Given the description of an element on the screen output the (x, y) to click on. 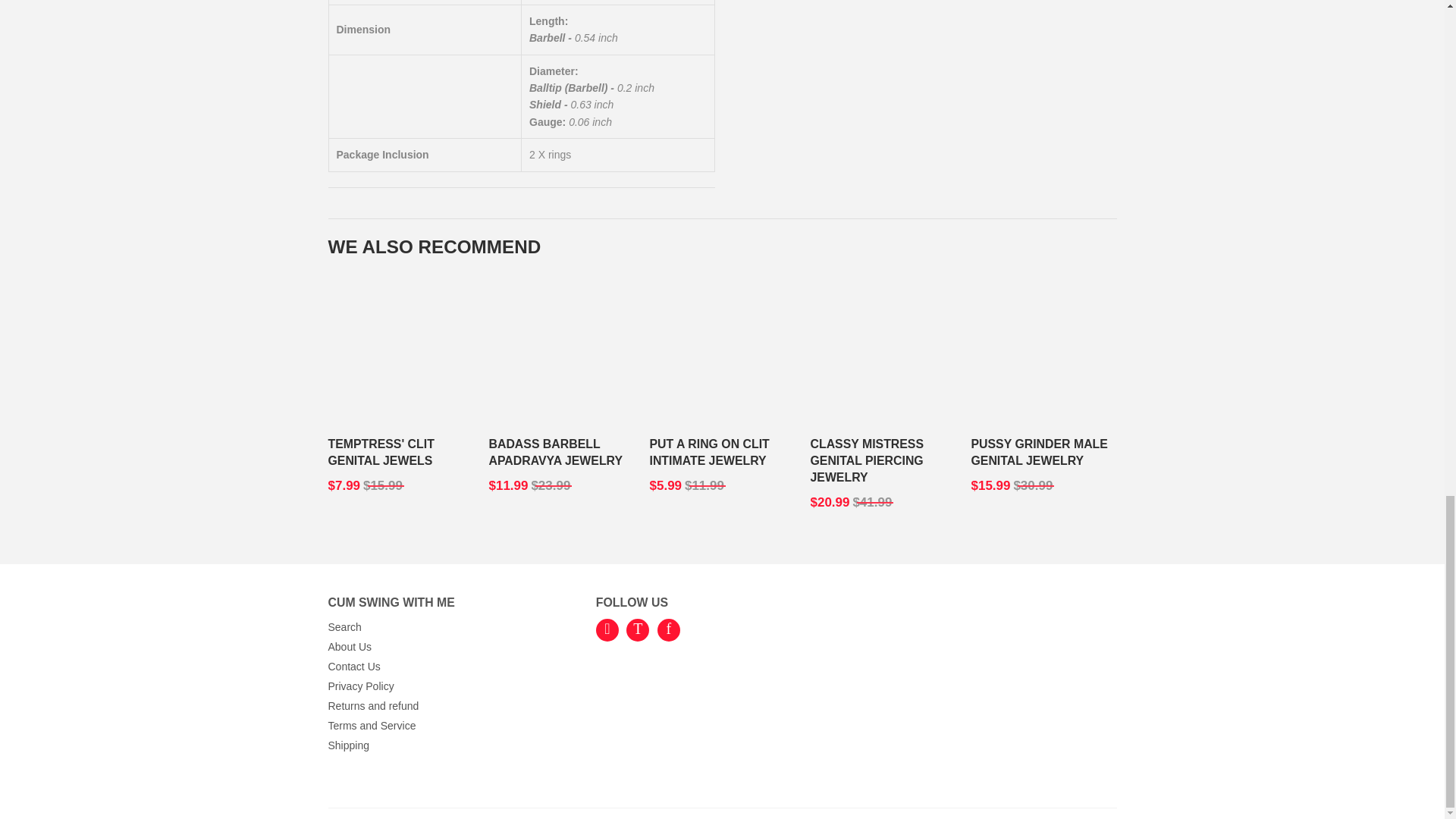
Cum Swing With Me on Facebook (668, 629)
Cum Swing With Me on Twitter (637, 629)
Cum Swing With Me on Instagram (606, 629)
